Given the description of an element on the screen output the (x, y) to click on. 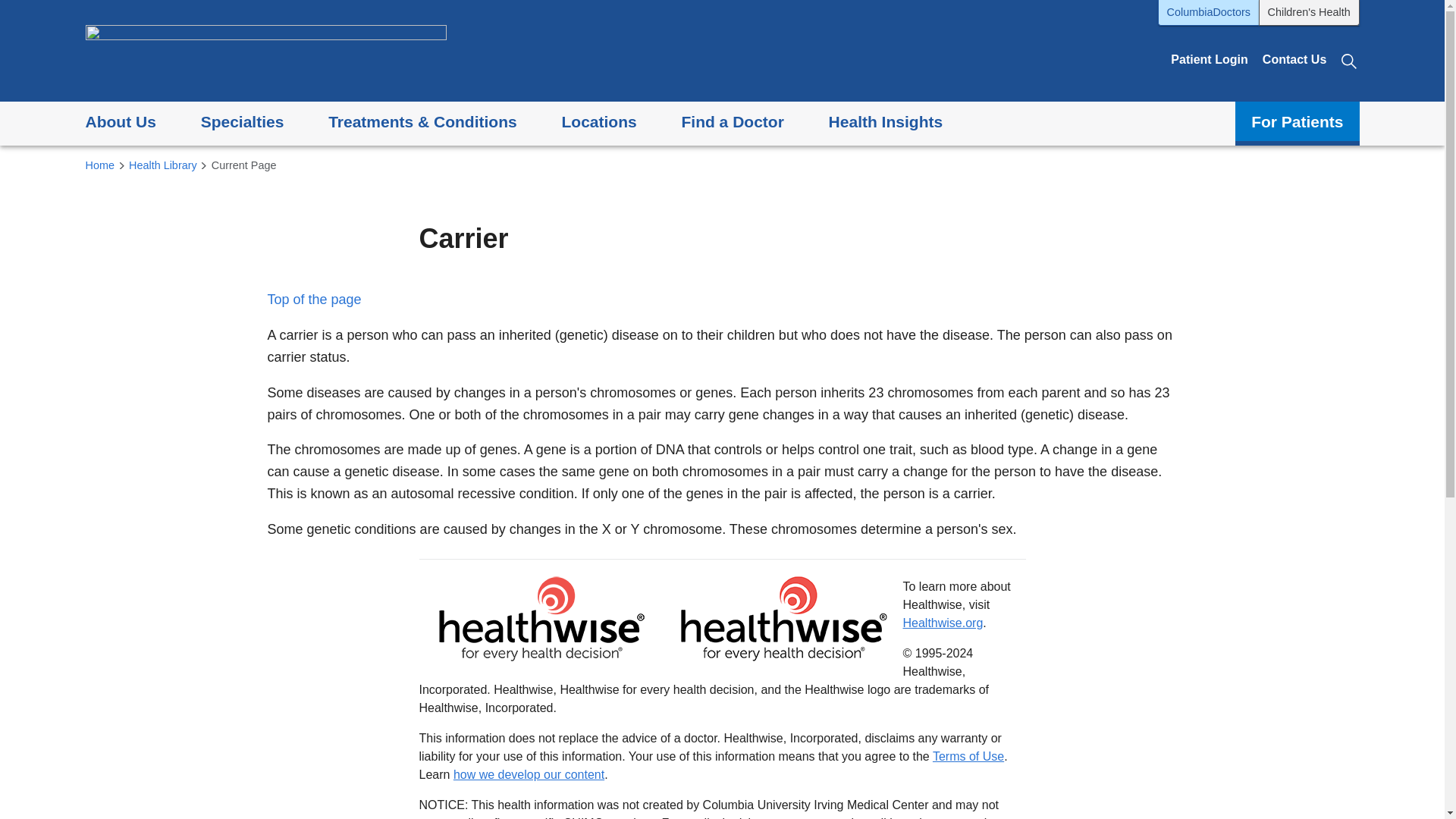
Top of the page (313, 299)
Children's Health (1309, 12)
Search (1349, 59)
Terms of Use (968, 755)
Current Page (243, 166)
Specialties (241, 122)
For Patients (1296, 122)
Contact Us (1294, 59)
About Us (119, 122)
Locations (598, 122)
